Given the description of an element on the screen output the (x, y) to click on. 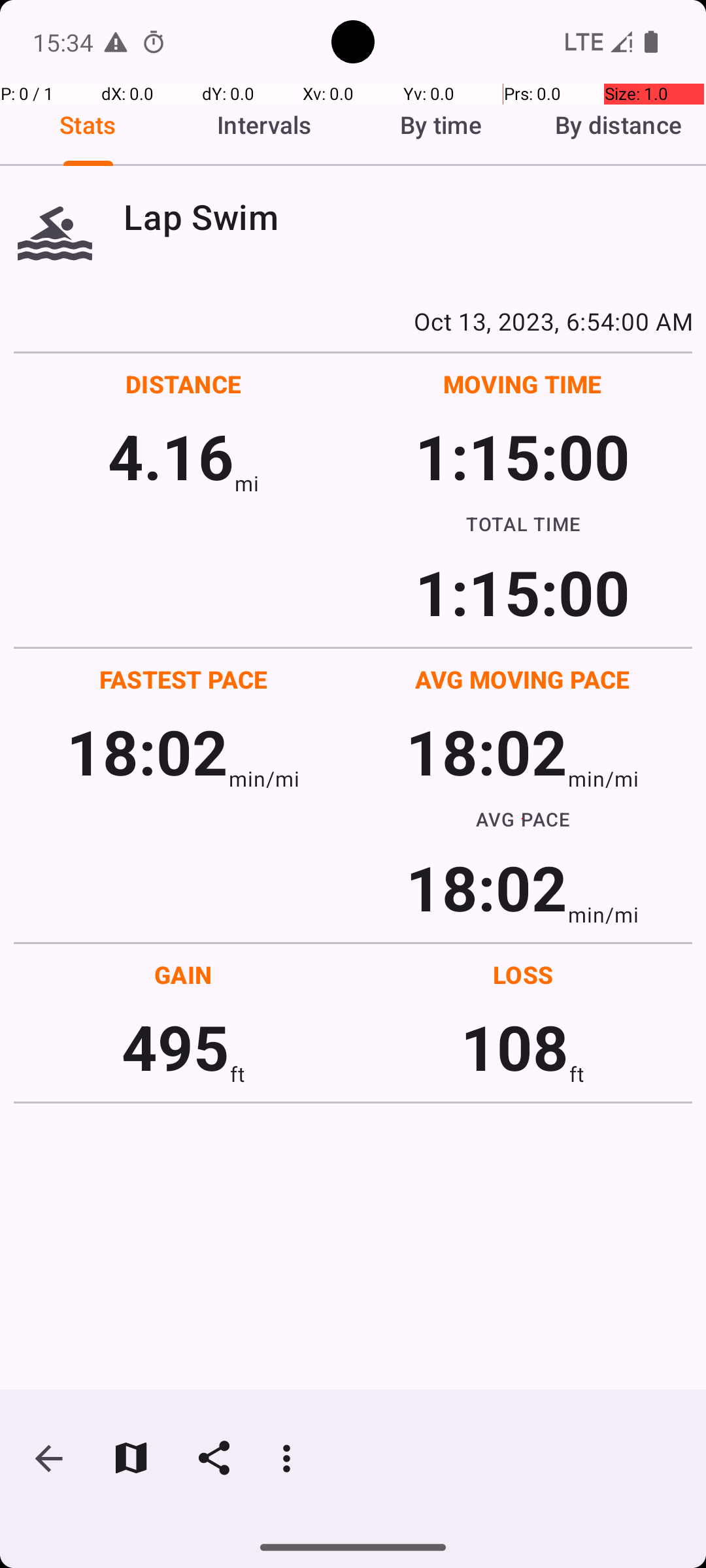
Lap Swim Element type: android.widget.TextView (407, 216)
Oct 13, 2023, 6:54:00 AM Element type: android.widget.TextView (352, 320)
4.16 Element type: android.widget.TextView (170, 455)
1:15:00 Element type: android.widget.TextView (522, 455)
FASTEST PACE Element type: android.widget.TextView (183, 678)
AVG MOVING PACE Element type: android.widget.TextView (522, 678)
18:02 Element type: android.widget.TextView (147, 750)
min/mi Element type: android.widget.TextView (264, 778)
AVG PACE Element type: android.widget.TextView (522, 818)
495 Element type: android.widget.TextView (175, 1045)
108 Element type: android.widget.TextView (514, 1045)
